Given the description of an element on the screen output the (x, y) to click on. 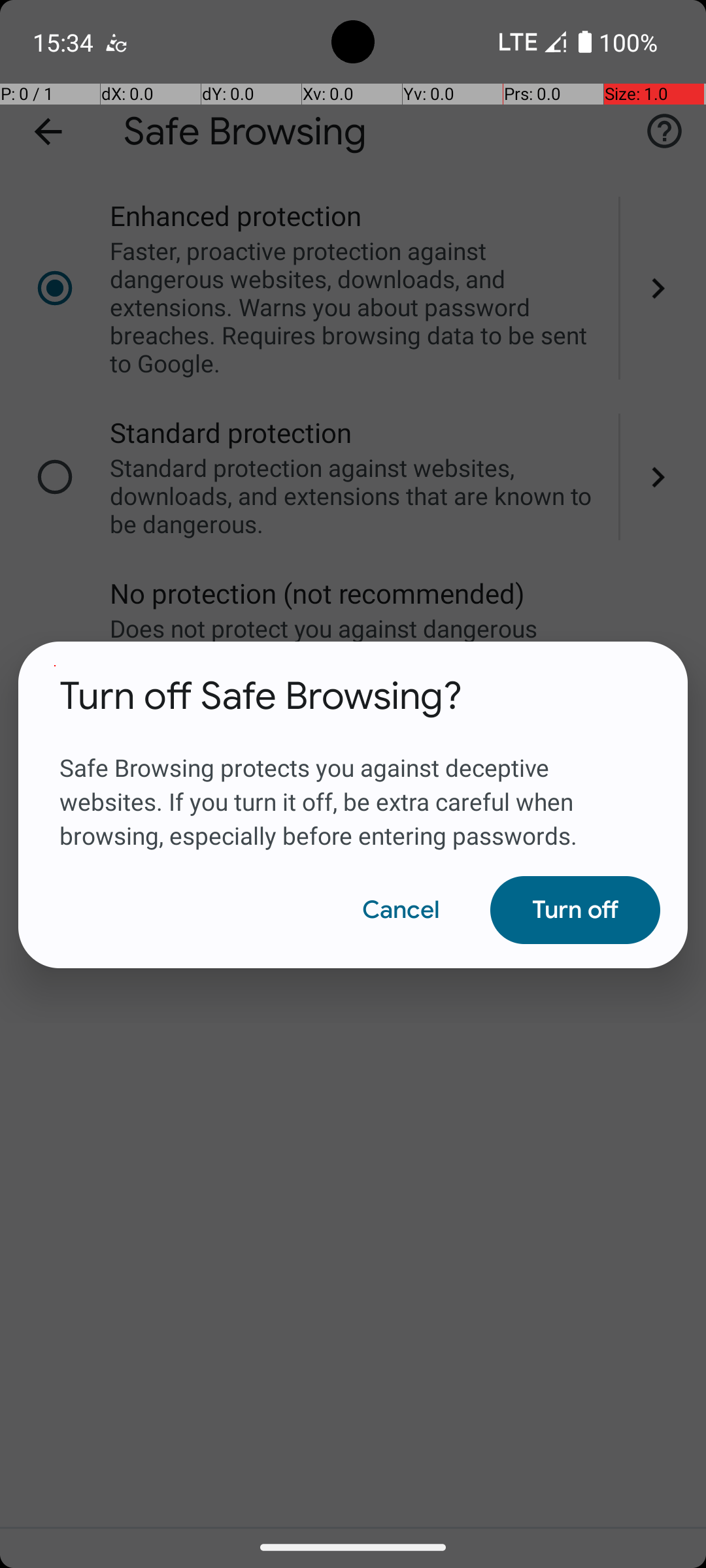
Turn off Safe Browsing? Element type: android.widget.TextView (260, 695)
Safe Browsing protects you against deceptive websites. If you turn it off, be extra careful when browsing, especially before entering passwords. Element type: android.widget.TextView (352, 785)
Turn off Element type: android.widget.Button (575, 909)
